Given the description of an element on the screen output the (x, y) to click on. 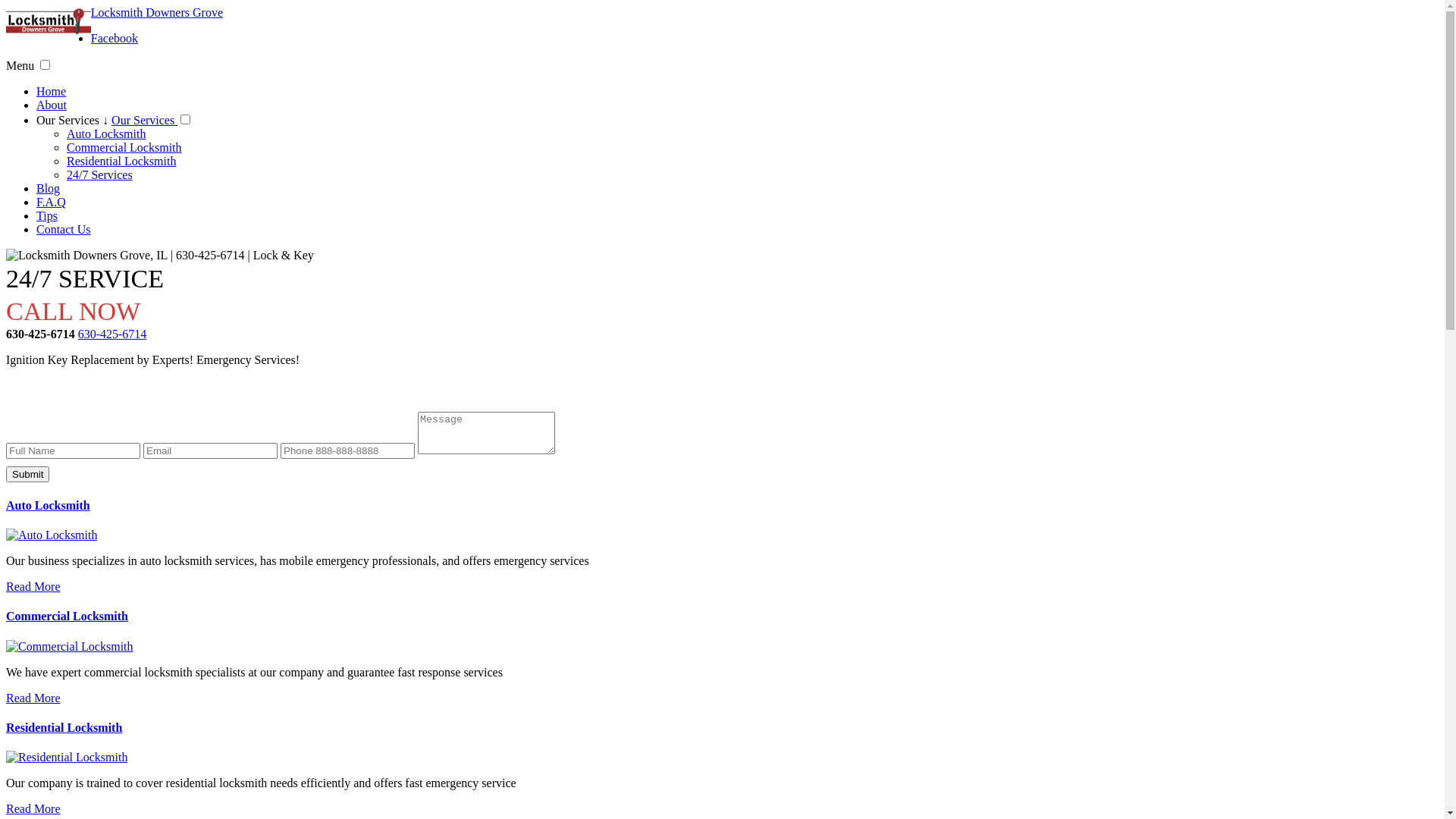
Commercial Locksmith Element type: hover (69, 646)
Commercial Locksmith Element type: text (67, 615)
Blog Element type: text (47, 188)
Read More Element type: text (33, 586)
Residential Locksmith Element type: text (120, 160)
Our Services Element type: text (144, 119)
Auto Locksmith Element type: hover (51, 534)
Residential Locksmith Element type: text (64, 727)
Read More Element type: text (33, 808)
Locksmith Downers Grove, IL | 630-425-6714 | Lock & Key Element type: hover (159, 255)
F.A.Q Element type: text (50, 201)
About Element type: text (51, 104)
Contact us Element type: text (722, 389)
Auto Locksmith Element type: text (48, 504)
Contact Us Element type: text (63, 228)
Commercial Locksmith Element type: text (124, 147)
Facebook Element type: text (114, 37)
Auto Locksmith Element type: text (105, 133)
24/7 Services Element type: text (99, 174)
Residential Locksmith Element type: hover (66, 756)
630-425-6714 Element type: text (112, 333)
Home Element type: text (50, 90)
Submit Element type: text (27, 474)
Tips Element type: text (46, 215)
Read More Element type: text (33, 697)
